Given the description of an element on the screen output the (x, y) to click on. 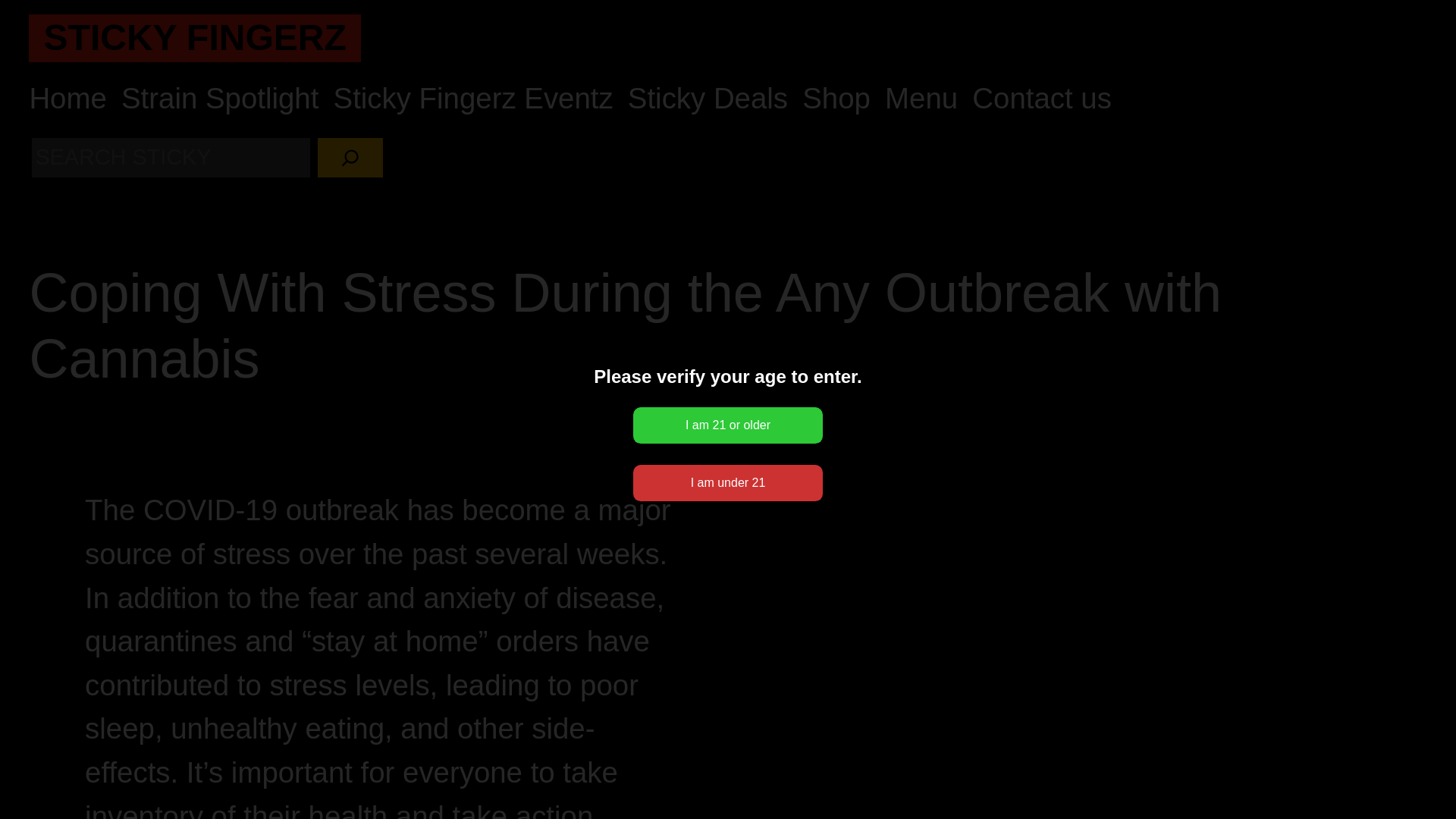
STICKY FINGERZ (194, 37)
Shop (836, 98)
Home (67, 98)
Strain Spotlight (219, 98)
Contact us (1042, 98)
I am 21 or older (727, 425)
Sticky Deals (707, 98)
I am under 21 (727, 483)
Menu (921, 98)
Sticky Fingerz Eventz (472, 98)
